Given the description of an element on the screen output the (x, y) to click on. 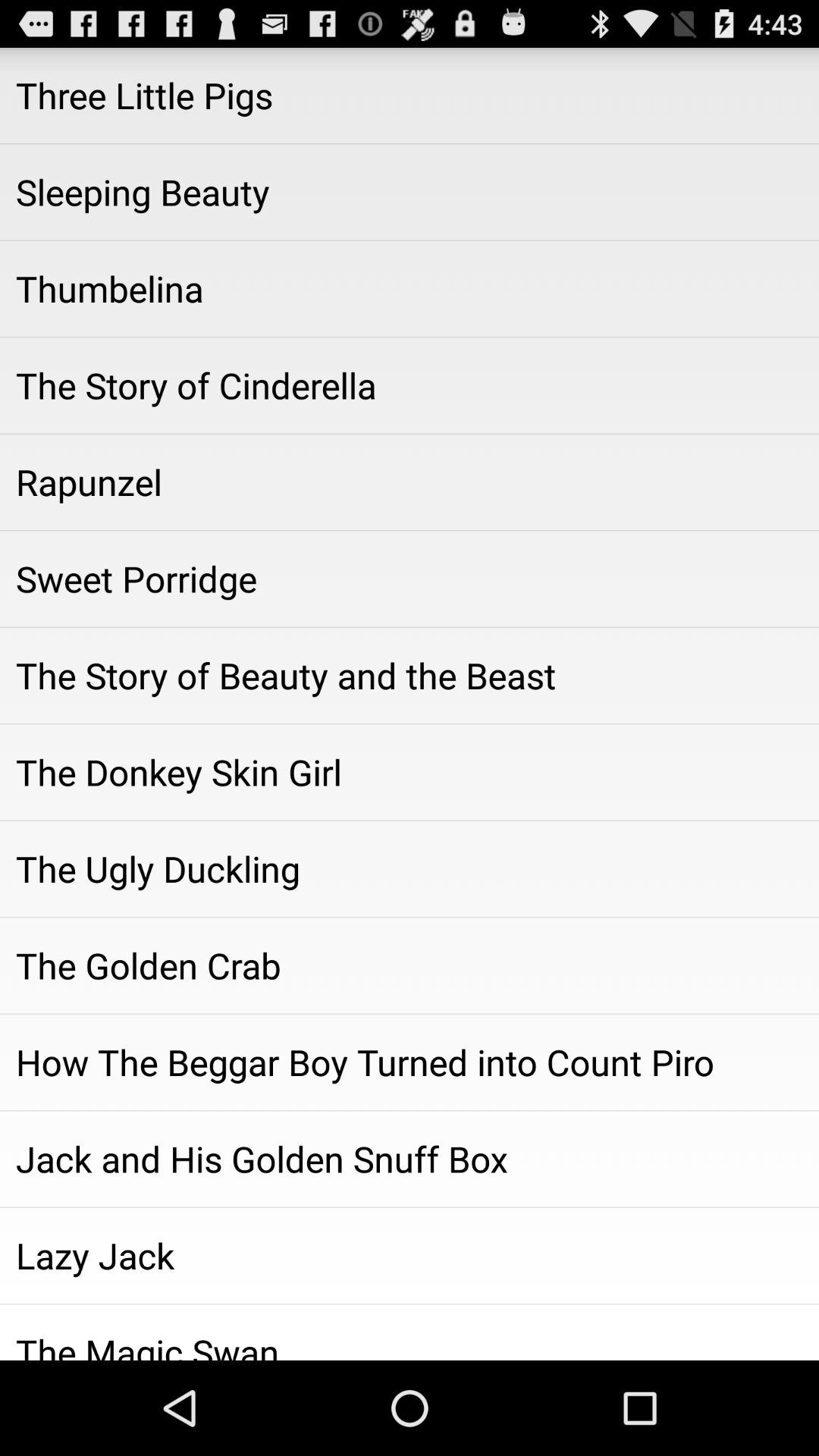
turn off the item above jack and his (409, 1062)
